Given the description of an element on the screen output the (x, y) to click on. 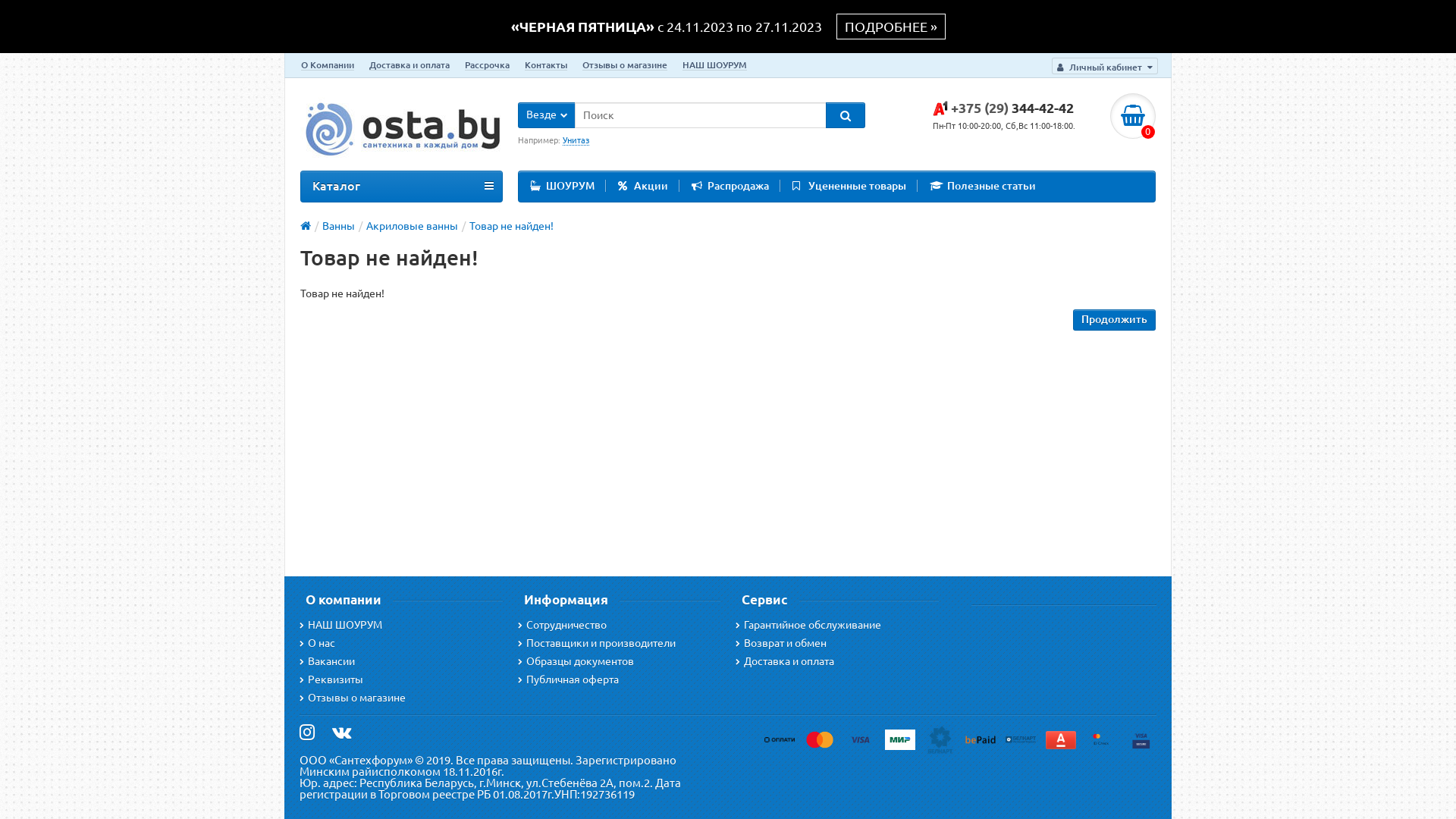
+375 (29) 344-42-42 Element type: text (1002, 107)
0 Element type: text (1132, 115)
